Given the description of an element on the screen output the (x, y) to click on. 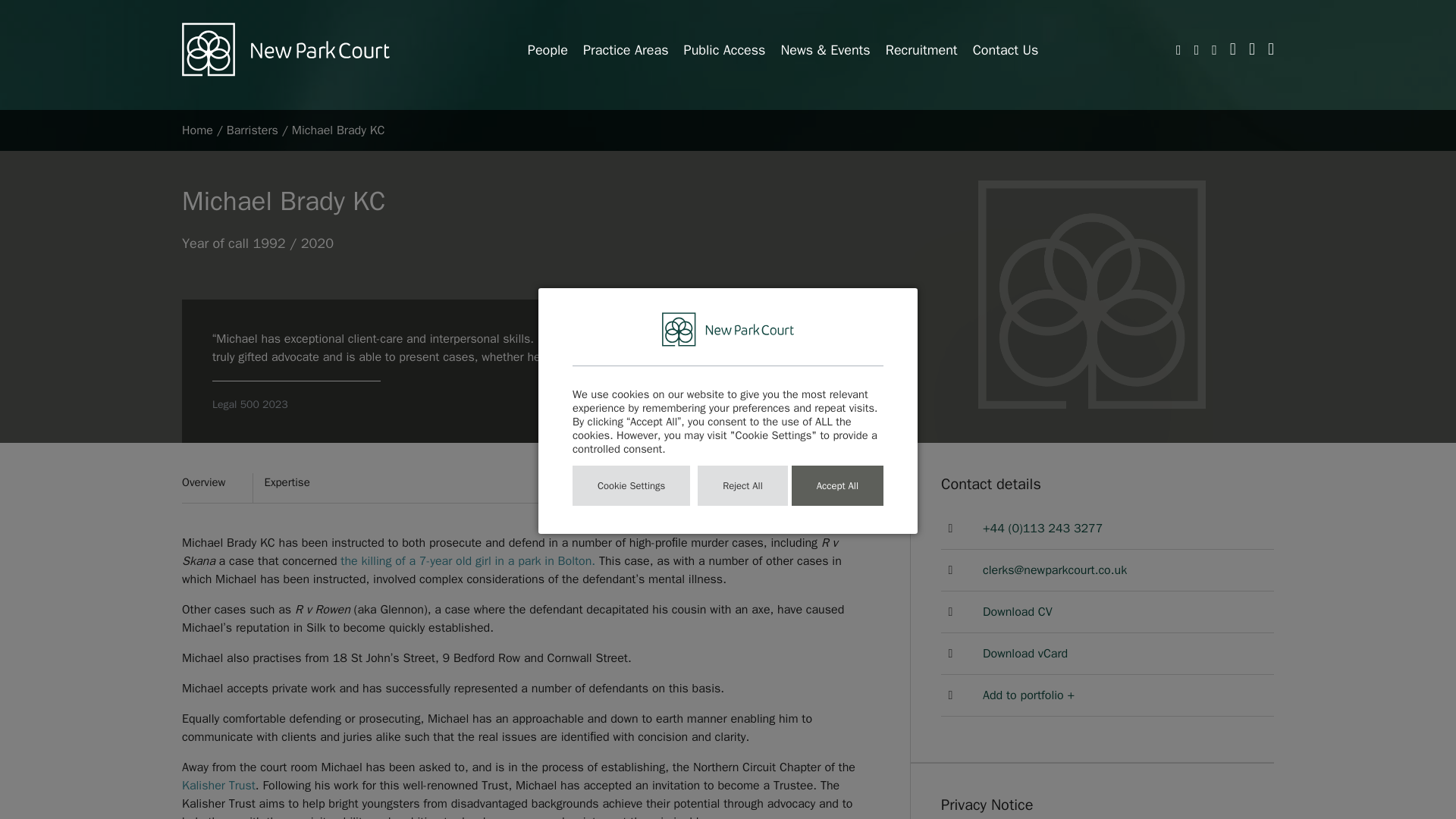
Public Access (724, 49)
Barristers (252, 130)
Overview (216, 487)
Recruitment (921, 49)
People (547, 49)
Expertise (294, 487)
old girl in a park in Bolton. (525, 560)
Expertise (294, 487)
Practice Areas (625, 49)
Kalisher Trust (219, 785)
